Given the description of an element on the screen output the (x, y) to click on. 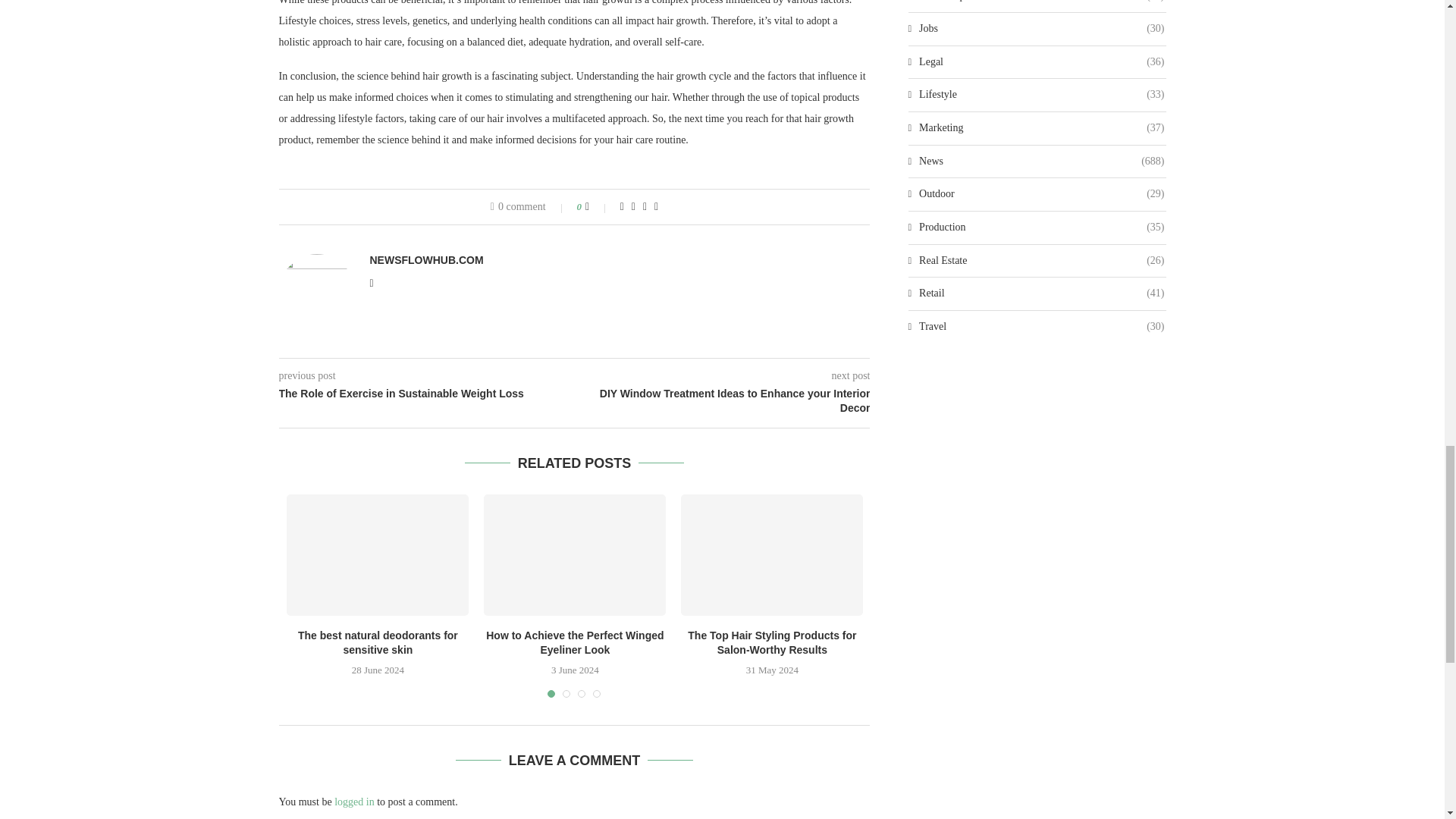
The Role of Exercise in Sustainable Weight Loss (427, 394)
The best natural deodorants for sensitive skin (377, 554)
The Top Hair Styling Products for Salon-Worthy Results (772, 554)
How to Achieve the Perfect Winged Eyeliner Look (574, 554)
DIY Window Treatment Ideas to Enhance your Interior Decor (722, 401)
Like (597, 205)
Author newsflowhub.com (426, 259)
NEWSFLOWHUB.COM (426, 259)
